Given the description of an element on the screen output the (x, y) to click on. 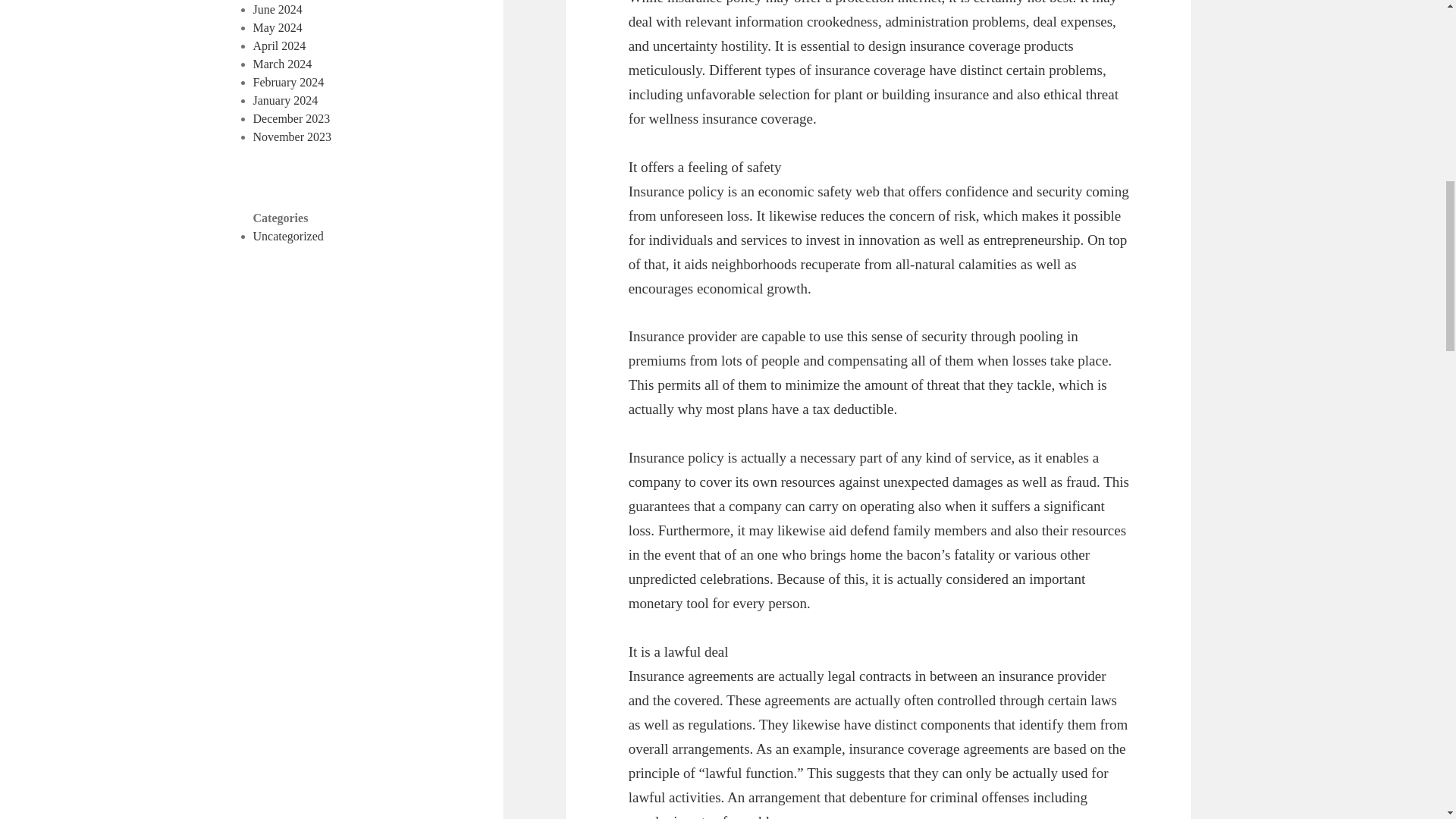
June 2024 (277, 9)
December 2023 (291, 118)
January 2024 (285, 100)
Uncategorized (288, 236)
February 2024 (288, 82)
May 2024 (277, 27)
March 2024 (283, 63)
November 2023 (292, 136)
April 2024 (279, 45)
